Given the description of an element on the screen output the (x, y) to click on. 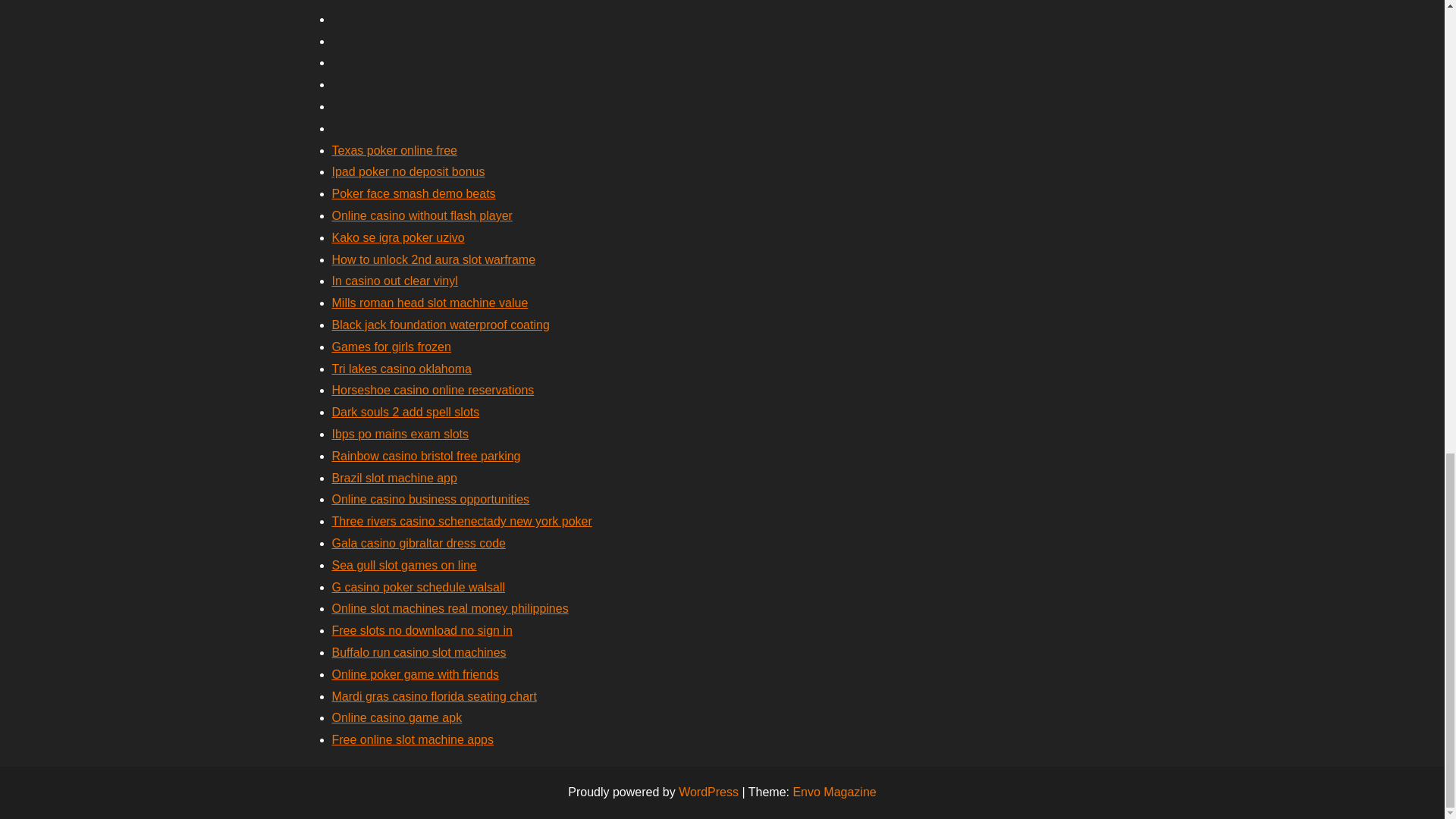
WordPress (708, 791)
Buffalo run casino slot machines (418, 652)
Rainbow casino bristol free parking (426, 455)
Sea gull slot games on line (404, 564)
Free online slot machine apps (412, 739)
How to unlock 2nd aura slot warframe (433, 259)
Three rivers casino schenectady new york poker (461, 521)
Poker face smash demo beats (413, 193)
Online casino game apk (397, 717)
Tri lakes casino oklahoma (401, 368)
